Given the description of an element on the screen output the (x, y) to click on. 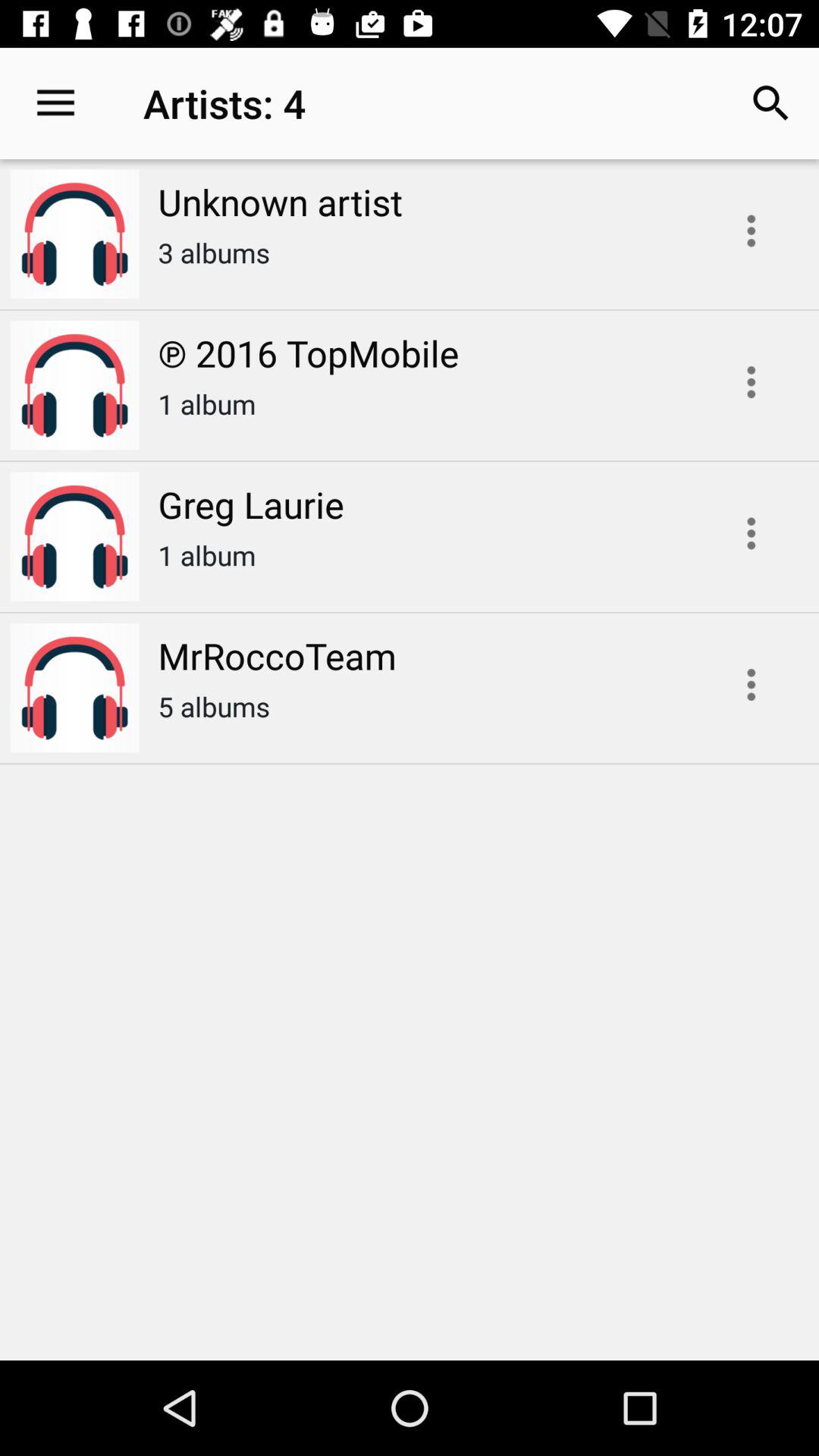
show artist options (750, 230)
